Given the description of an element on the screen output the (x, y) to click on. 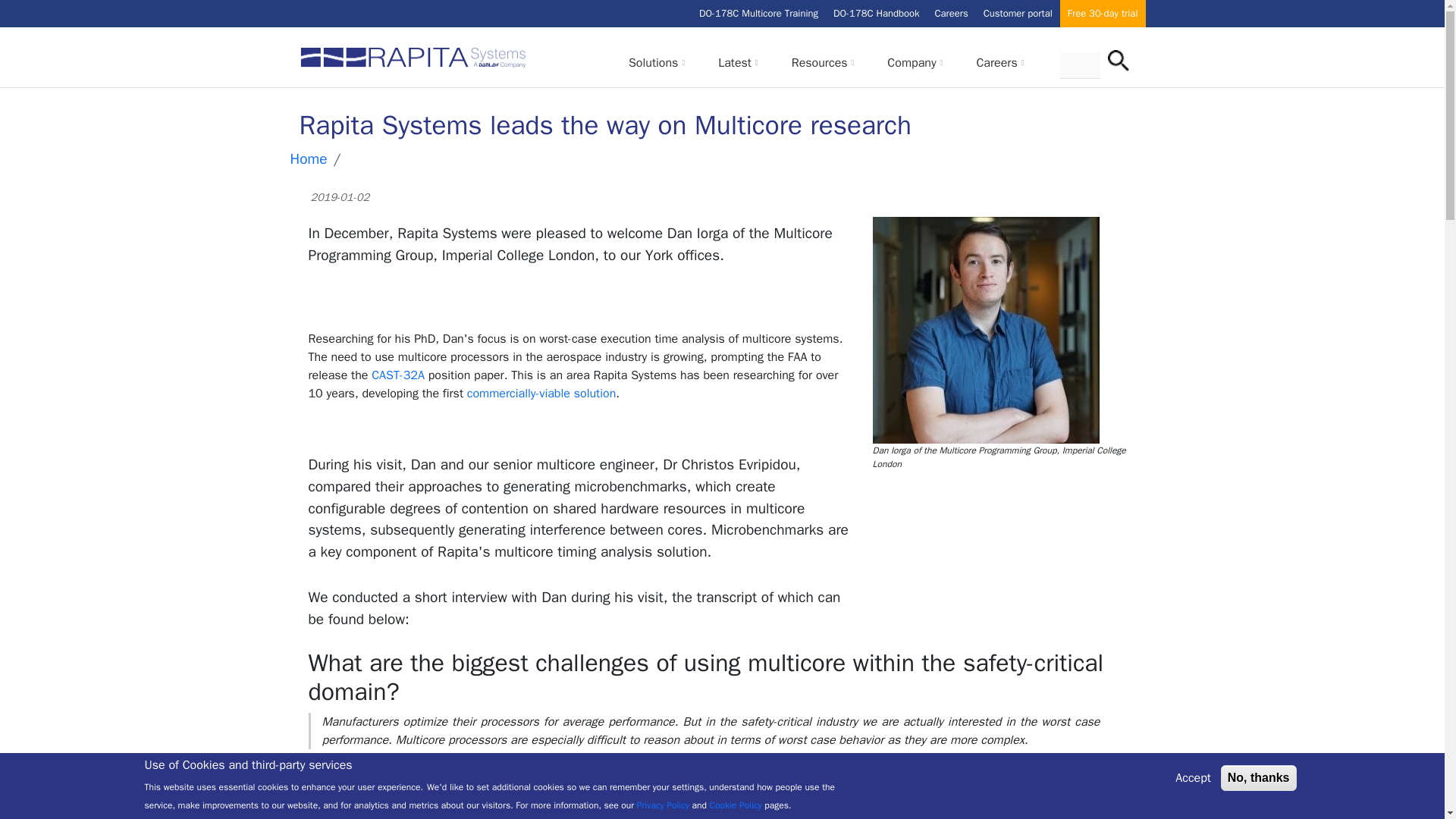
Solutions (656, 67)
DO-178C Handbook (875, 13)
Free 30-day trial (1102, 13)
Enter the terms you wish to search for. (1079, 64)
Solutions (653, 62)
CAST-32A (398, 375)
Careers (951, 13)
Customer portal (1017, 13)
DO-178C Multicore Training (758, 13)
